Given the description of an element on the screen output the (x, y) to click on. 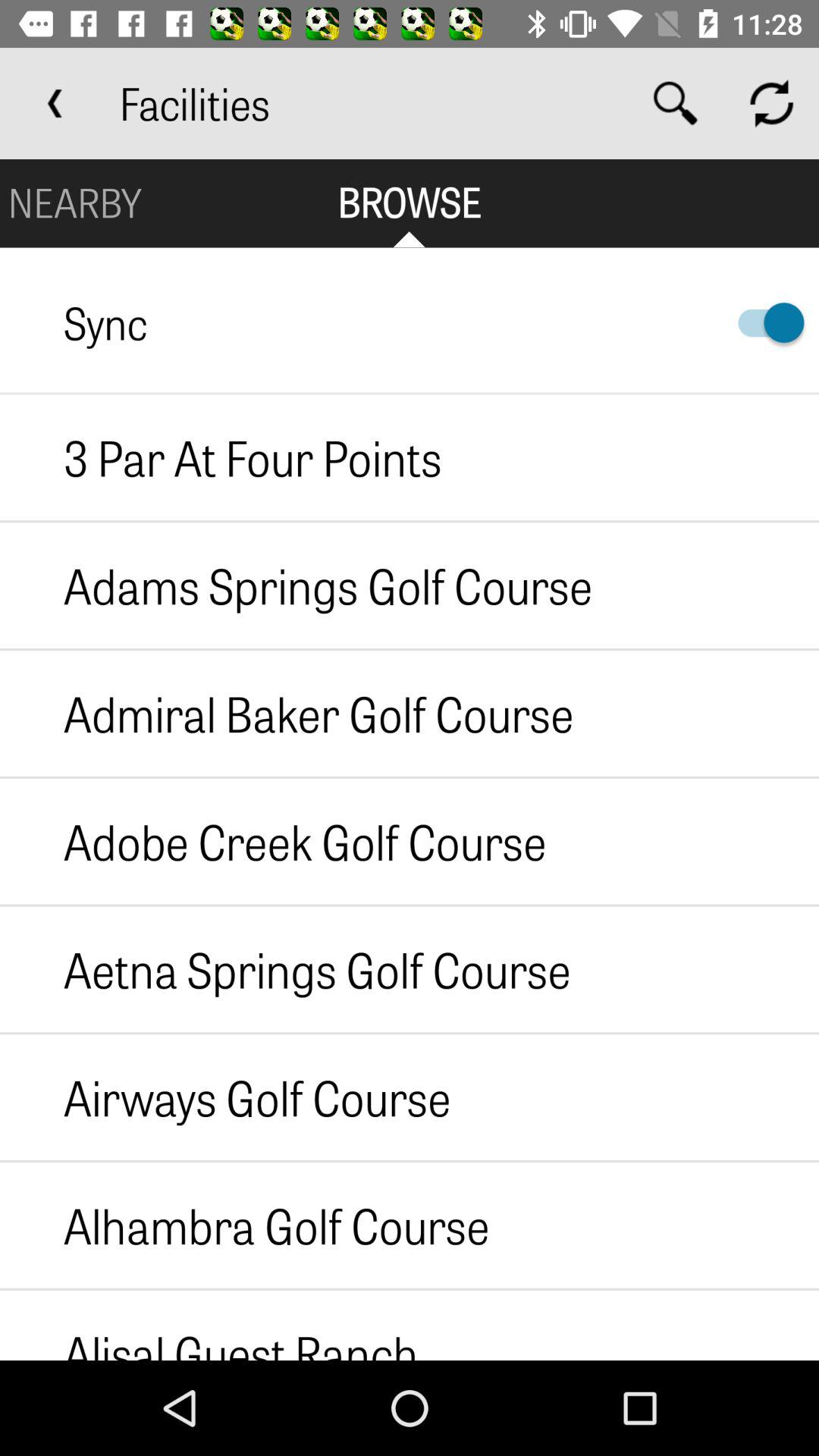
press icon below alhambra golf course item (209, 1325)
